Given the description of an element on the screen output the (x, y) to click on. 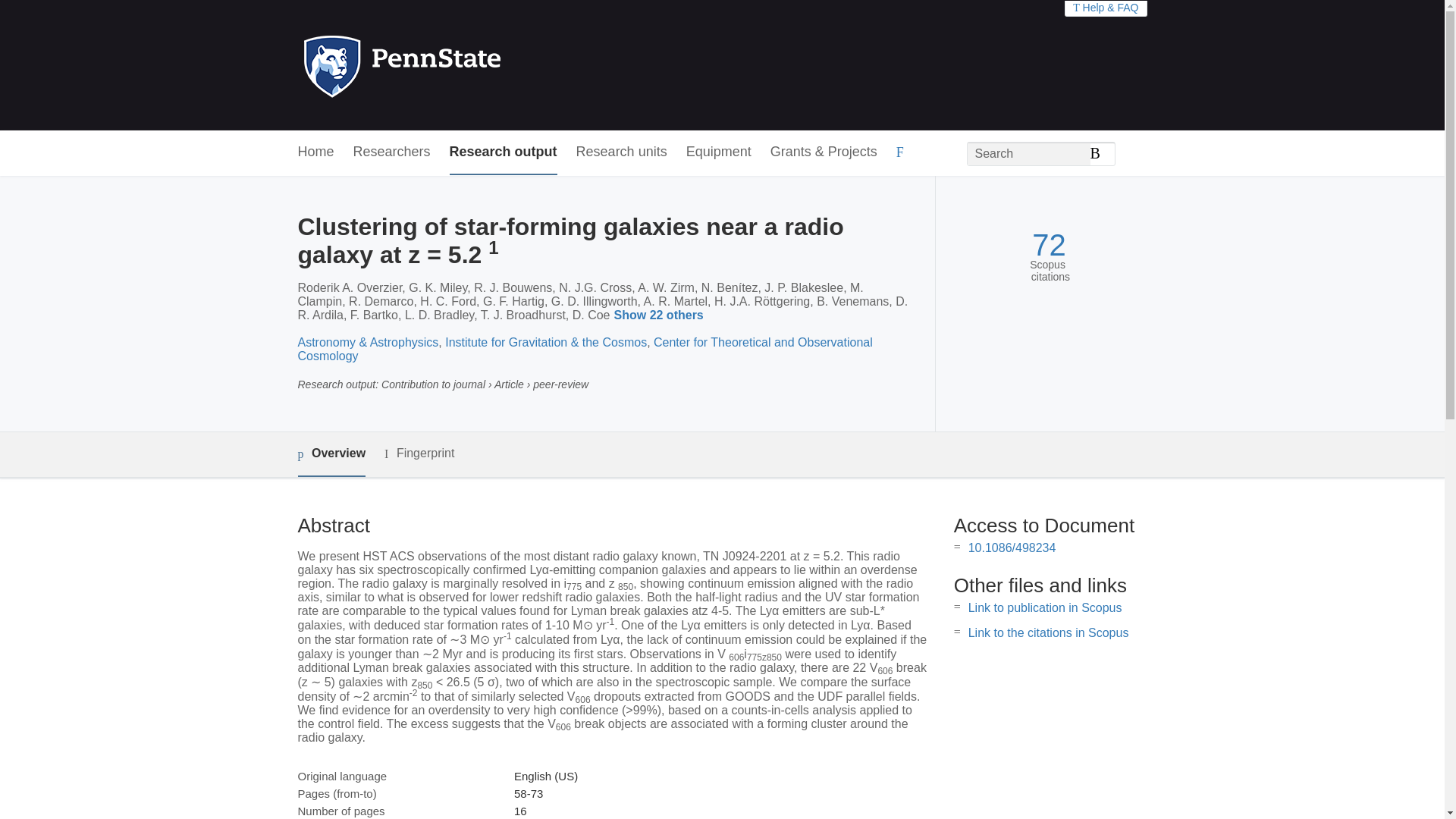
72 (1048, 244)
Show 22 others (661, 315)
Center for Theoretical and Observational Cosmology (584, 348)
Link to publication in Scopus (1045, 607)
Researchers (391, 152)
Home (315, 152)
Research output (503, 152)
Penn State Home (467, 65)
Equipment (718, 152)
Link to the citations in Scopus (1048, 632)
Research units (621, 152)
Fingerprint (419, 453)
Overview (331, 454)
